Given the description of an element on the screen output the (x, y) to click on. 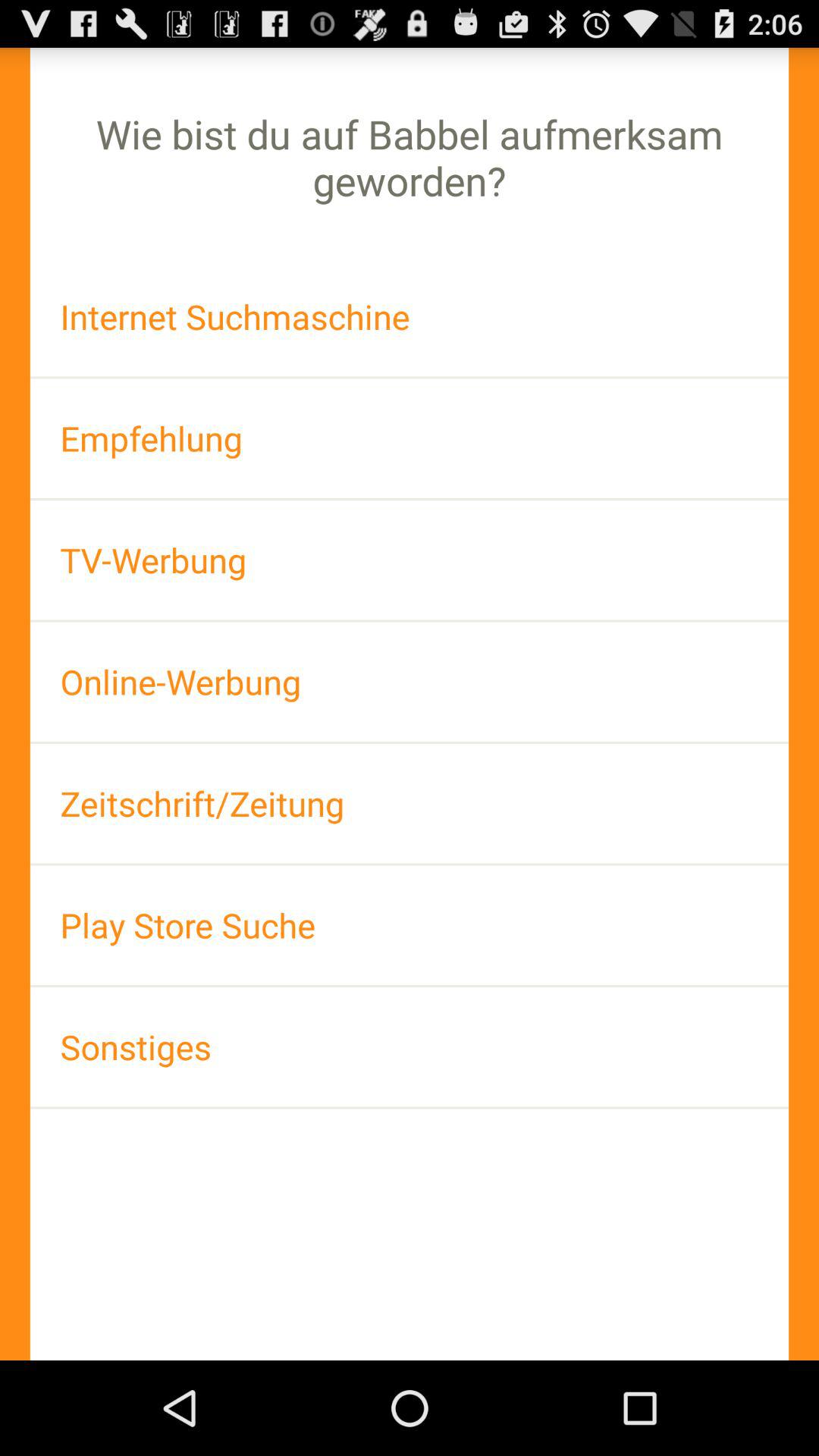
scroll until the online-werbung app (409, 681)
